Given the description of an element on the screen output the (x, y) to click on. 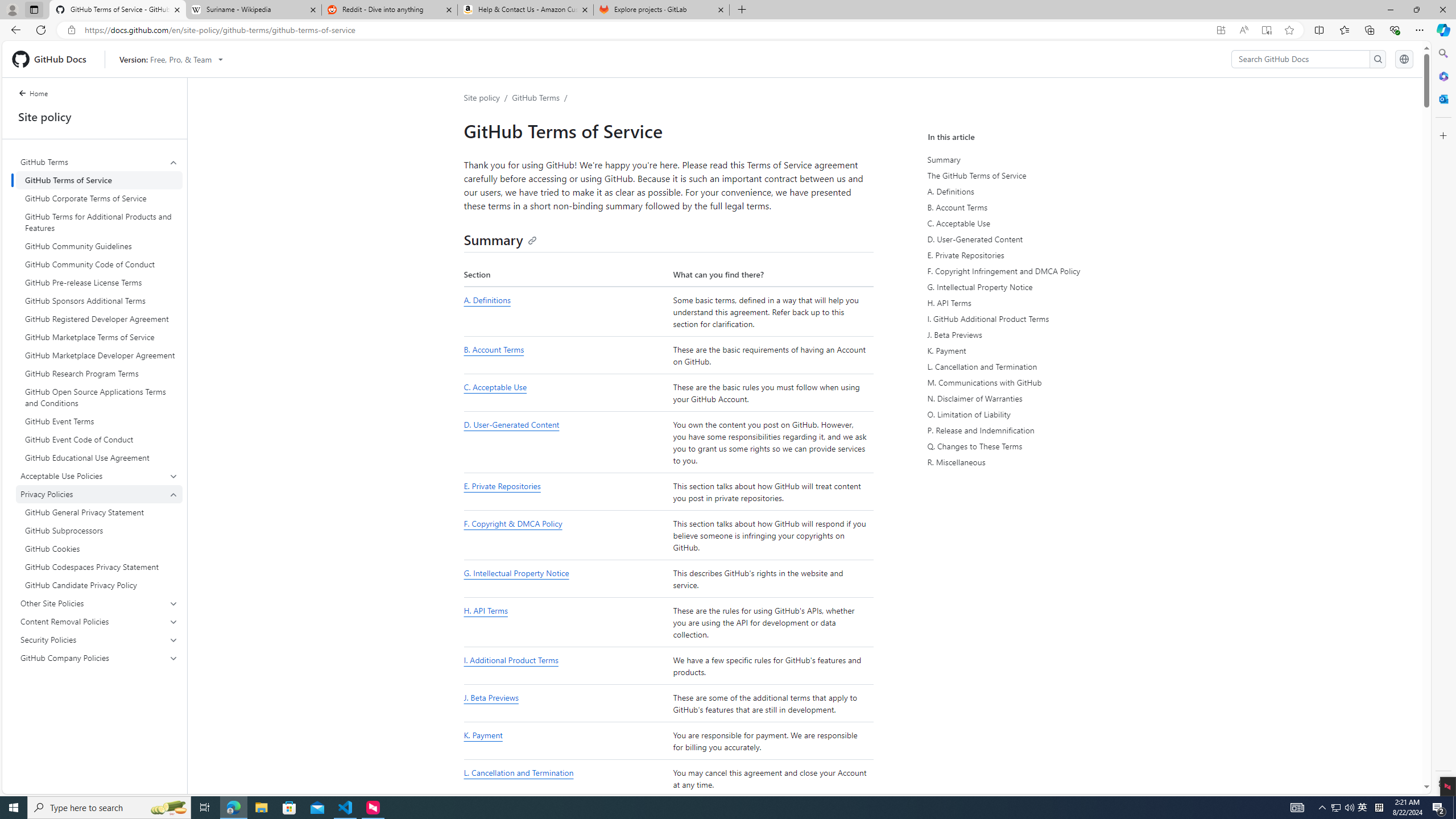
P. Release and Indemnification (1032, 430)
Reddit - Dive into anything (390, 9)
GitHub Marketplace Developer Agreement (99, 355)
R. Miscellaneous (1034, 462)
C. Acceptable Use (1032, 223)
J. Beta Previews (1032, 334)
K. Payment (482, 735)
C. Acceptable Use (495, 387)
M. Communications with GitHub (1034, 382)
Search GitHub Docs (1300, 58)
Content Removal Policies (99, 621)
GitHub Event Terms (99, 420)
